Given the description of an element on the screen output the (x, y) to click on. 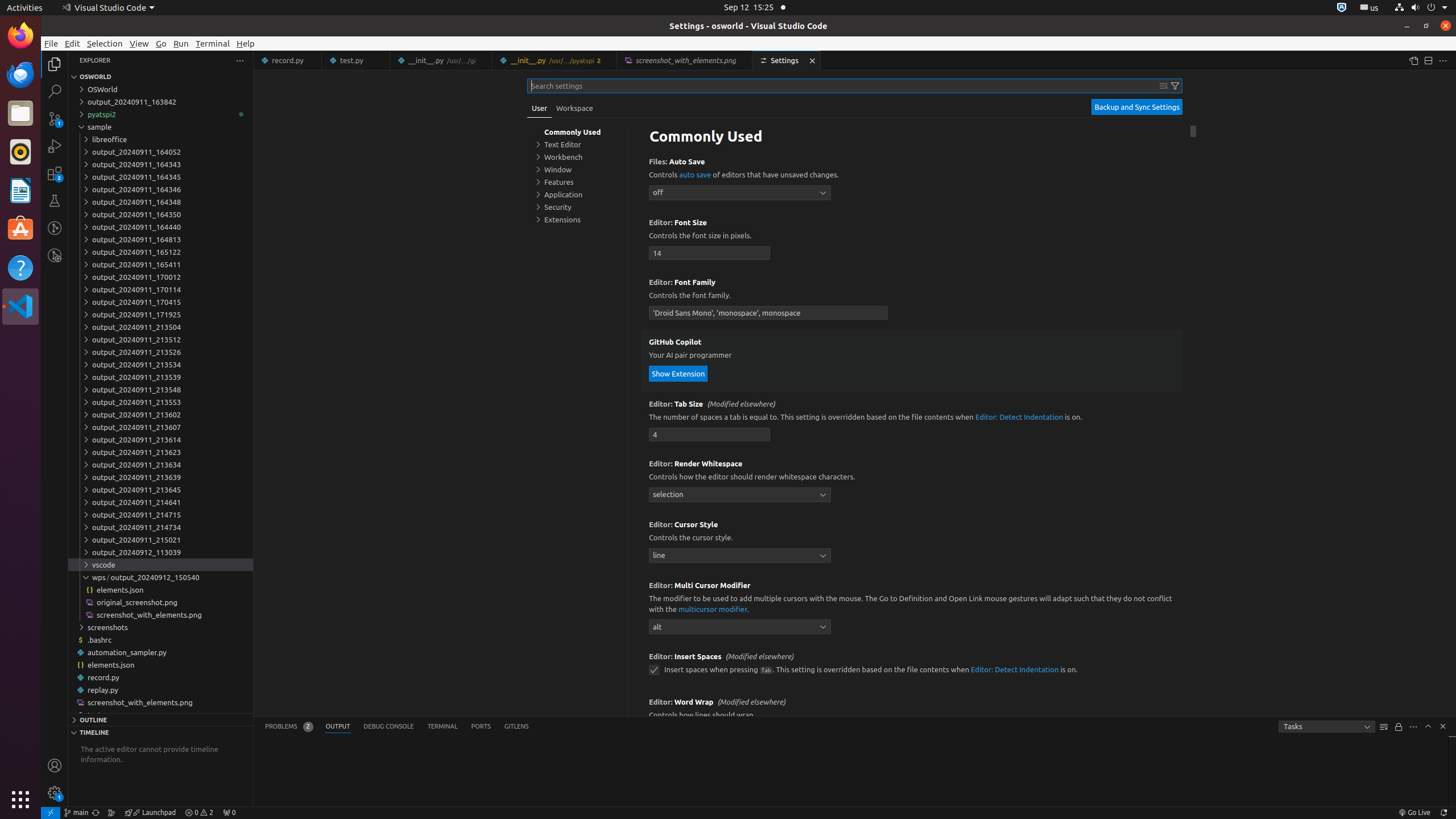
.bashrc Element type: tree-item (160, 639)
editor.insertSpaces Element type: check-box (653, 669)
Source Control (Ctrl+Shift+G G) - 1 pending changes Source Control (Ctrl+Shift+G G) - 1 pending changes Element type: page-tab (54, 118)
Commonly Used, group Element type: tree-item (577, 131)
output_20240912_150540, compact, wps Element type: tree-item (154, 577)
